Given the description of an element on the screen output the (x, y) to click on. 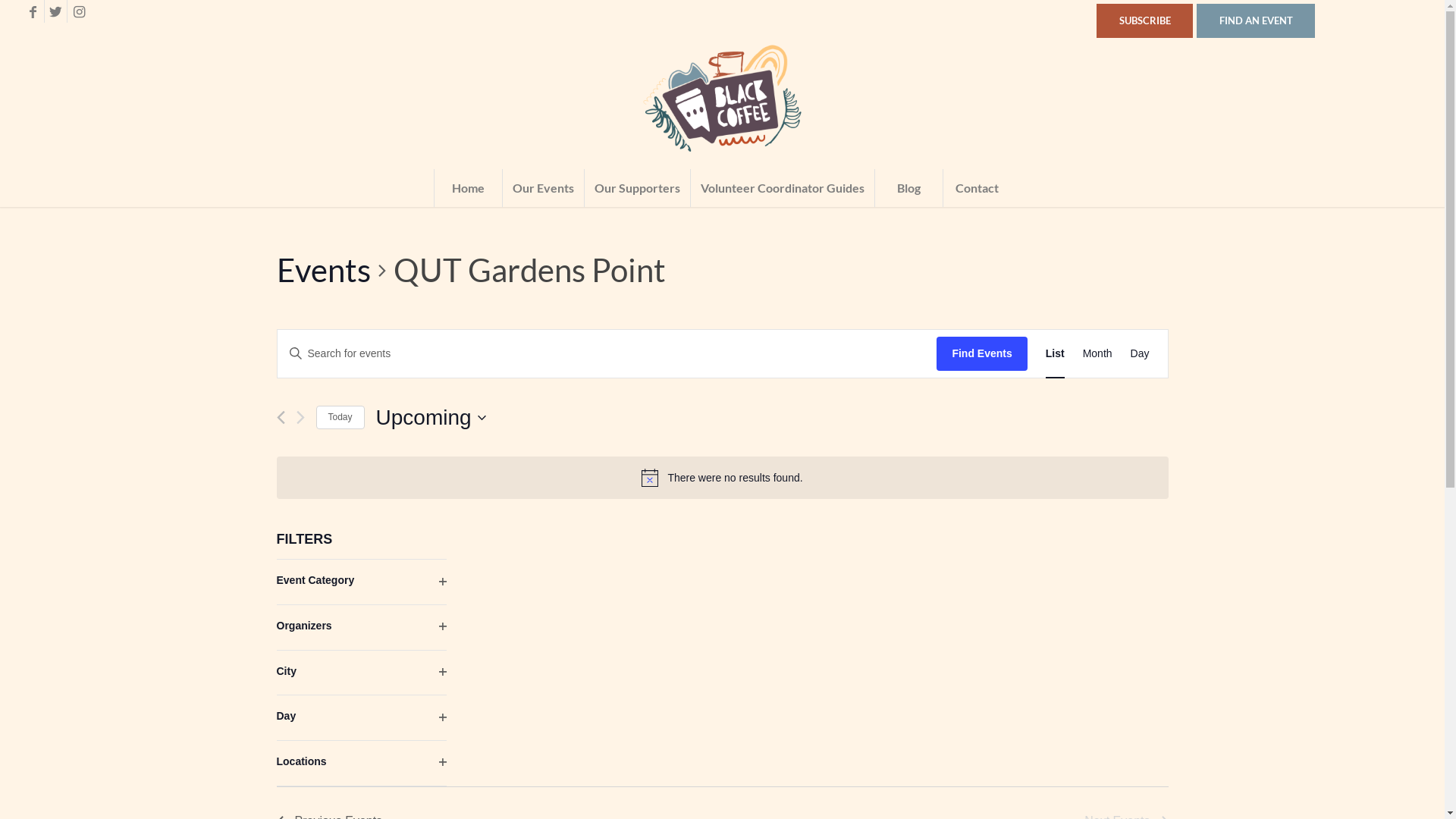
Events Element type: text (323, 270)
Twitter Element type: hover (55, 11)
Locations
Open filter Element type: text (360, 762)
Instagram Element type: hover (78, 11)
Our Events Element type: text (542, 188)
Home Element type: text (467, 188)
Day Element type: text (1139, 353)
Organizers
Open filter Element type: text (360, 627)
Day
Open filter Element type: text (360, 717)
SUBSCRIBE Element type: text (1144, 20)
Previous Events Element type: hover (280, 417)
Find Events Element type: text (981, 353)
City
Open filter Element type: text (360, 672)
Today Element type: text (339, 417)
Blog Element type: text (908, 188)
Next Events Element type: hover (299, 417)
Volunteer Coordinator Guides Element type: text (782, 188)
Month Element type: text (1097, 353)
List Element type: text (1054, 353)
Event Category
Open filter Element type: text (360, 581)
FIND AN EVENT Element type: text (1255, 20)
Contact Element type: text (976, 188)
Upcoming Element type: text (431, 417)
Our Supporters Element type: text (636, 188)
Facebook Element type: hover (32, 11)
